Given the description of an element on the screen output the (x, y) to click on. 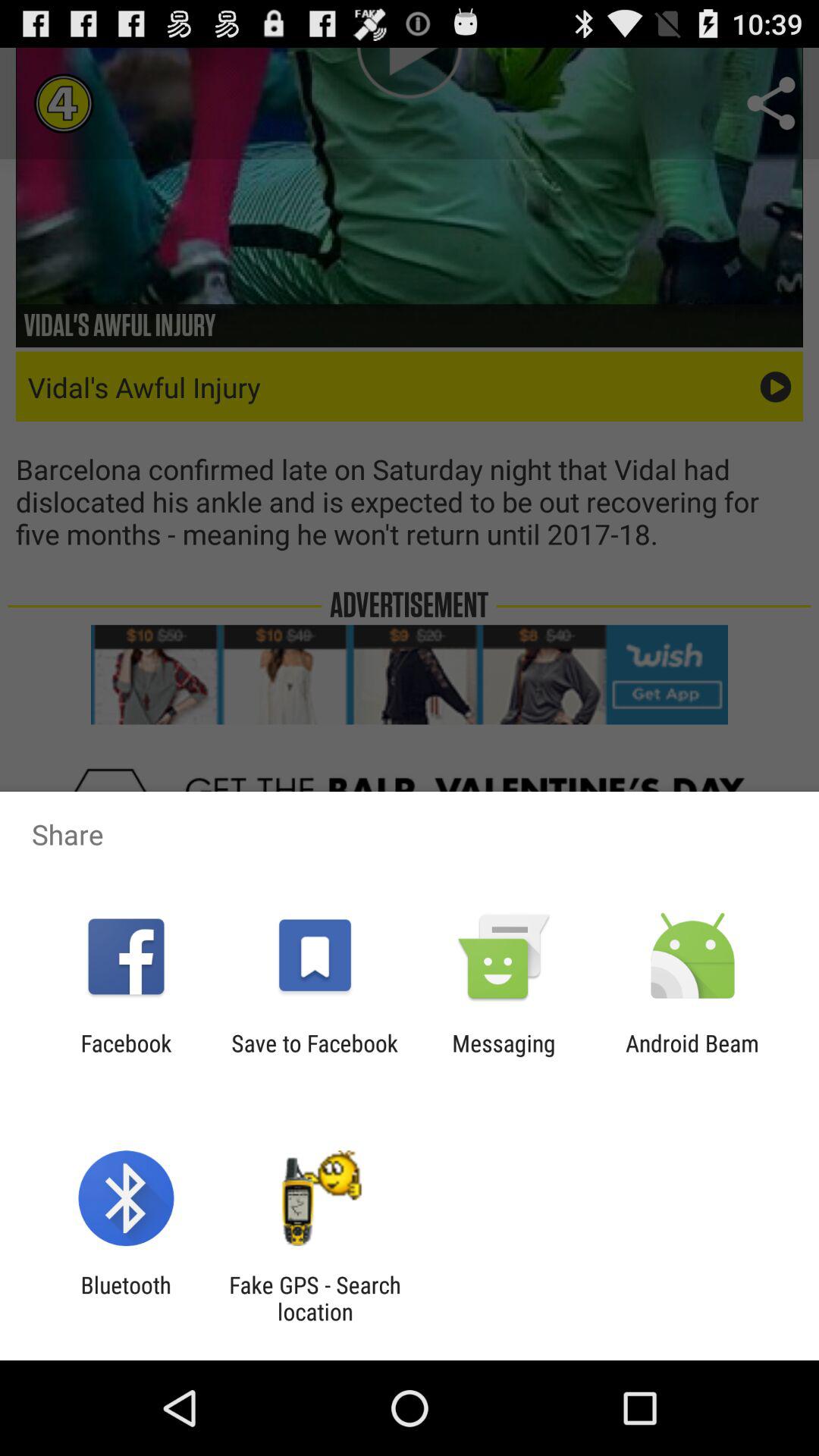
launch the app to the right of the facebook item (314, 1056)
